Given the description of an element on the screen output the (x, y) to click on. 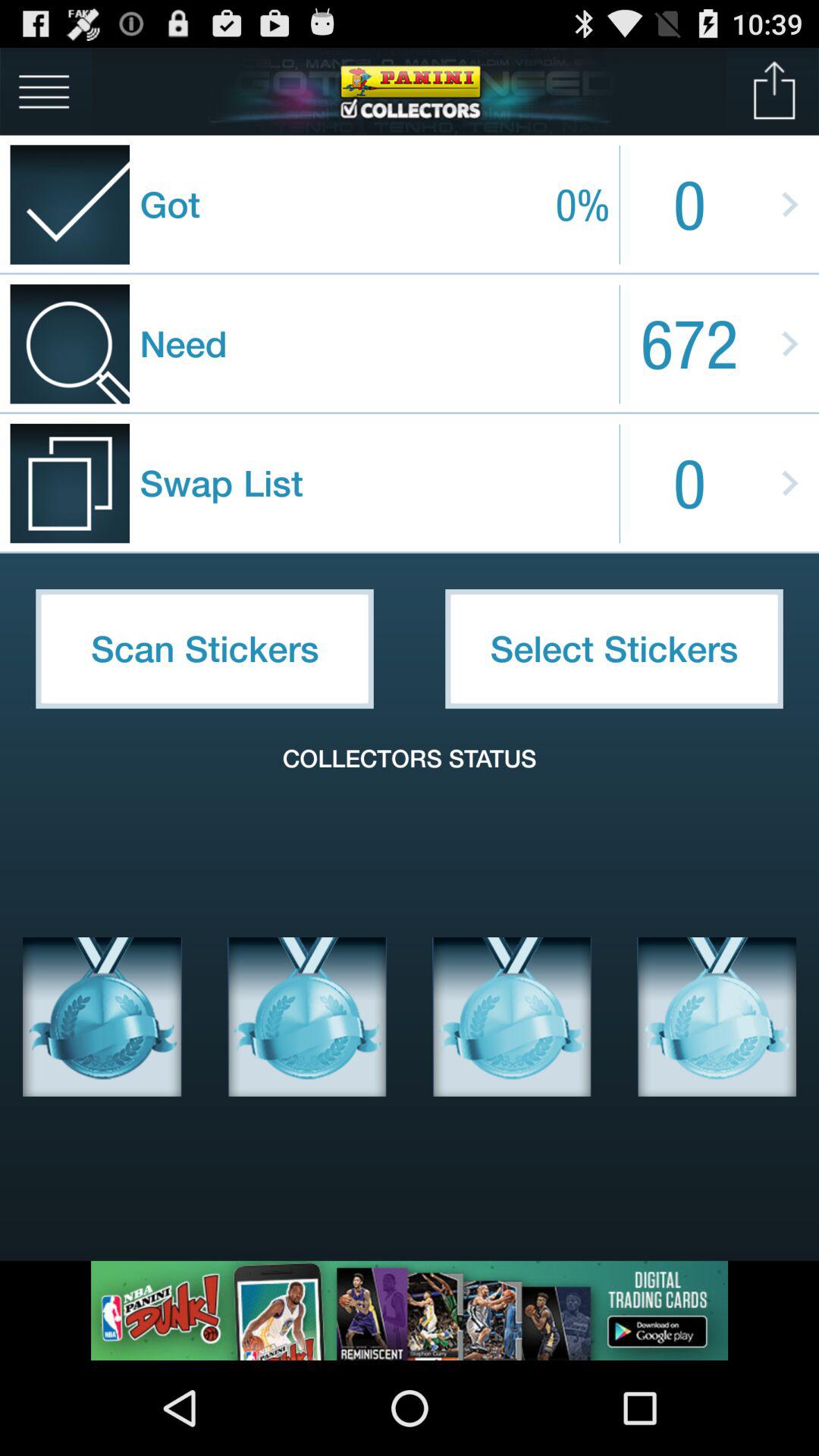
select item below swap list (204, 648)
